Given the description of an element on the screen output the (x, y) to click on. 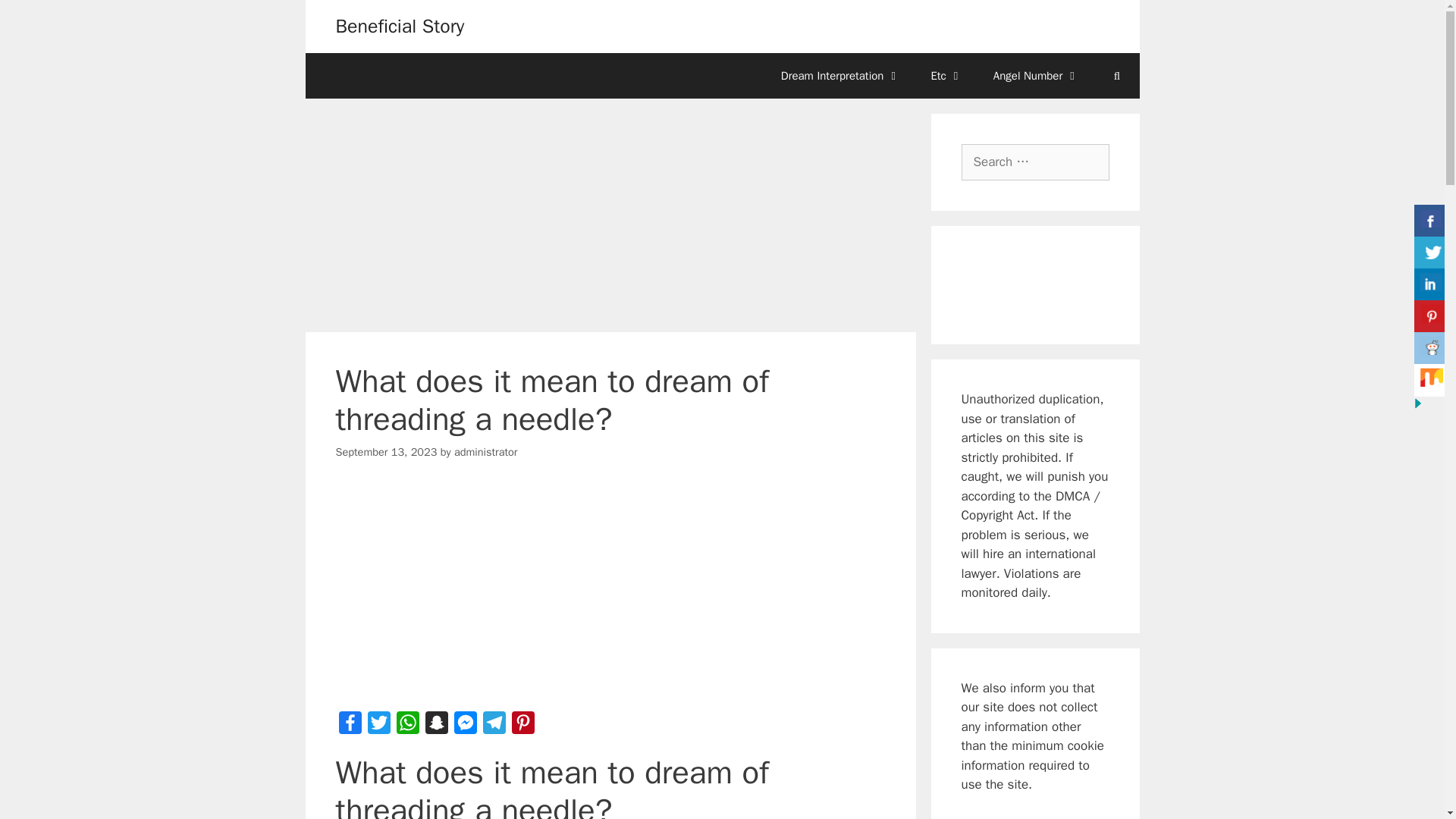
Beneficial Story (399, 25)
Pinterest (522, 726)
Twitter (378, 726)
Messenger (464, 726)
administrator (486, 451)
View all posts by administrator (486, 451)
Twitter (378, 726)
Dream Interpretation (840, 75)
Etc (945, 75)
Facebook (349, 726)
Pinterest (522, 726)
Snapchat (435, 726)
Angel Number (1036, 75)
WhatsApp (407, 726)
Messenger (464, 726)
